Given the description of an element on the screen output the (x, y) to click on. 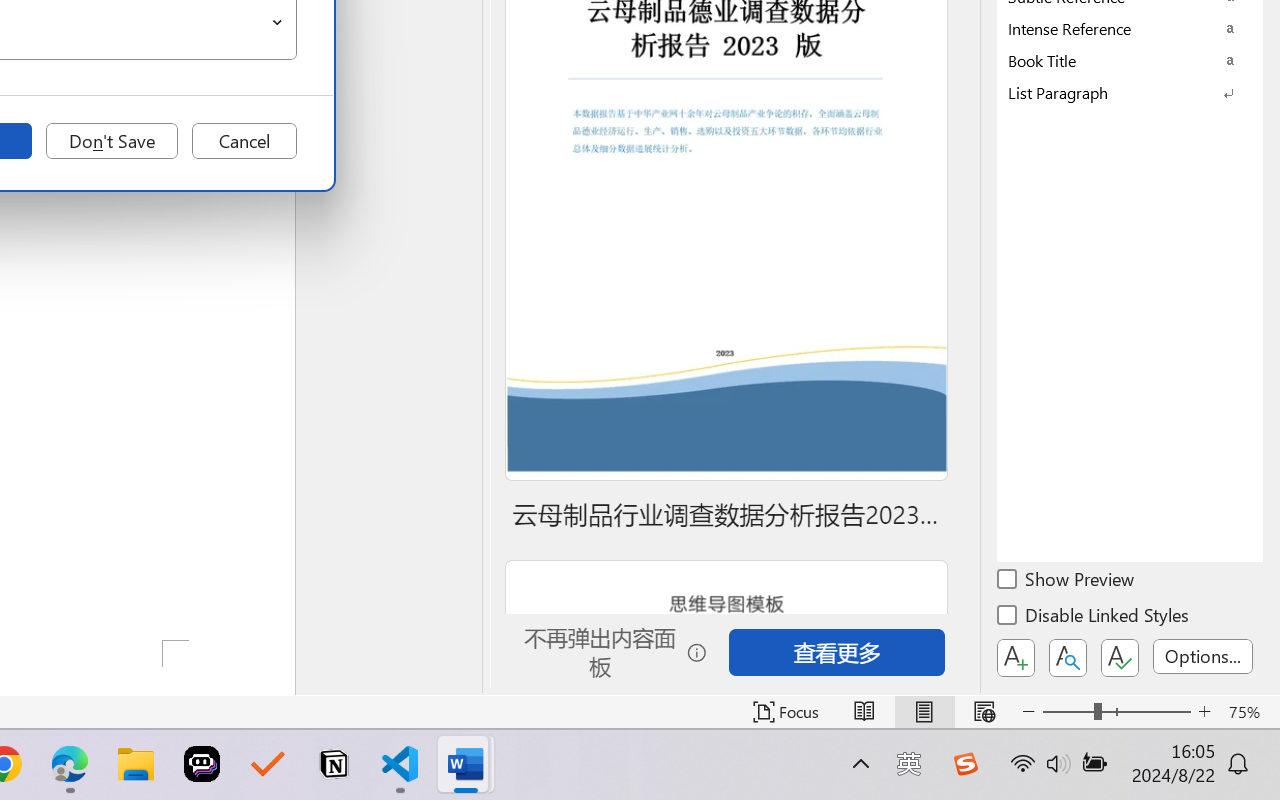
Options... (1203, 656)
Poe (201, 764)
Focus  (786, 712)
Zoom In (1204, 712)
Disable Linked Styles (1094, 618)
Show Preview (1067, 582)
Class: NetUIButton (1119, 657)
